Given the description of an element on the screen output the (x, y) to click on. 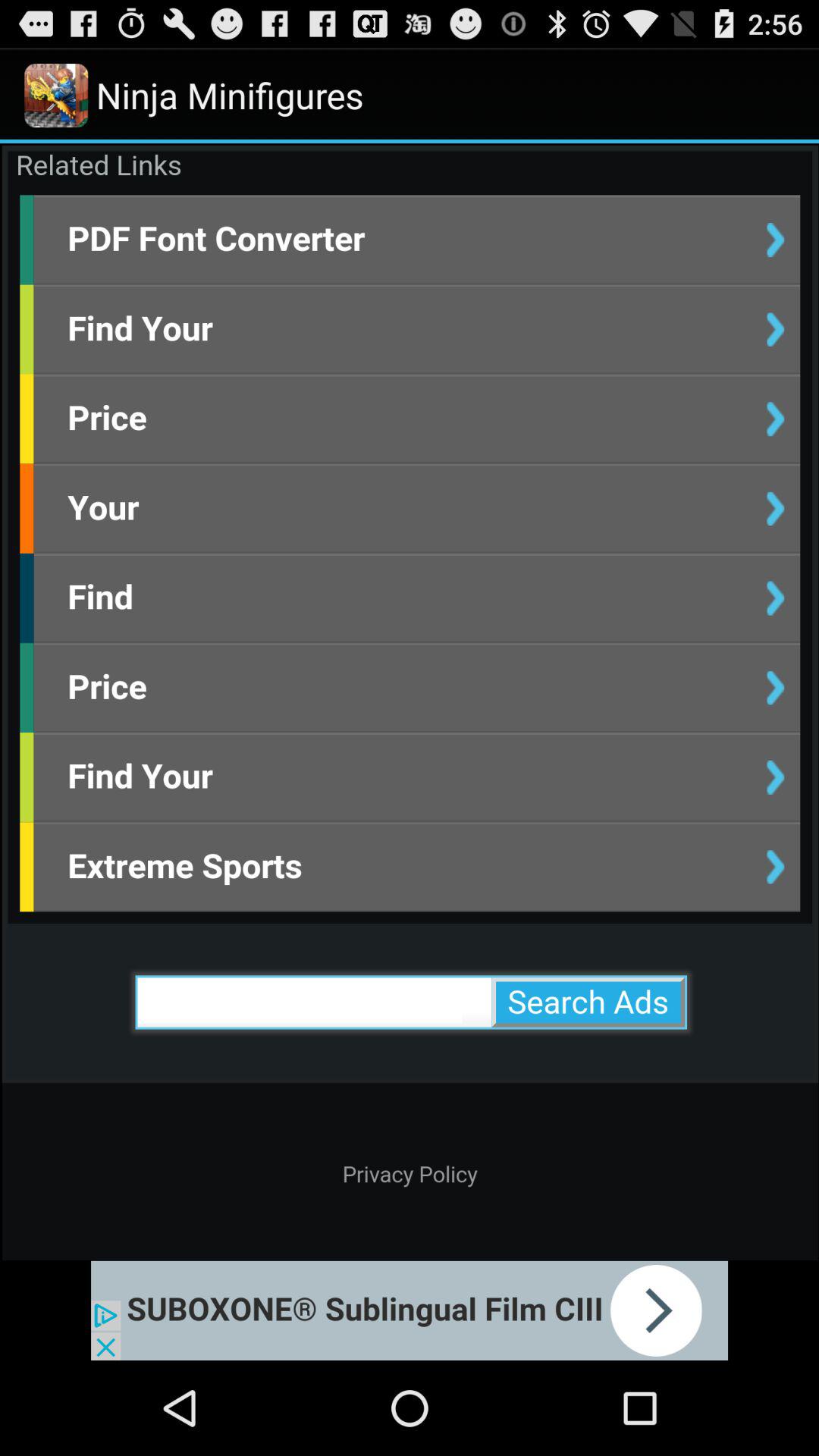
go to external advertisement (409, 1310)
